Given the description of an element on the screen output the (x, y) to click on. 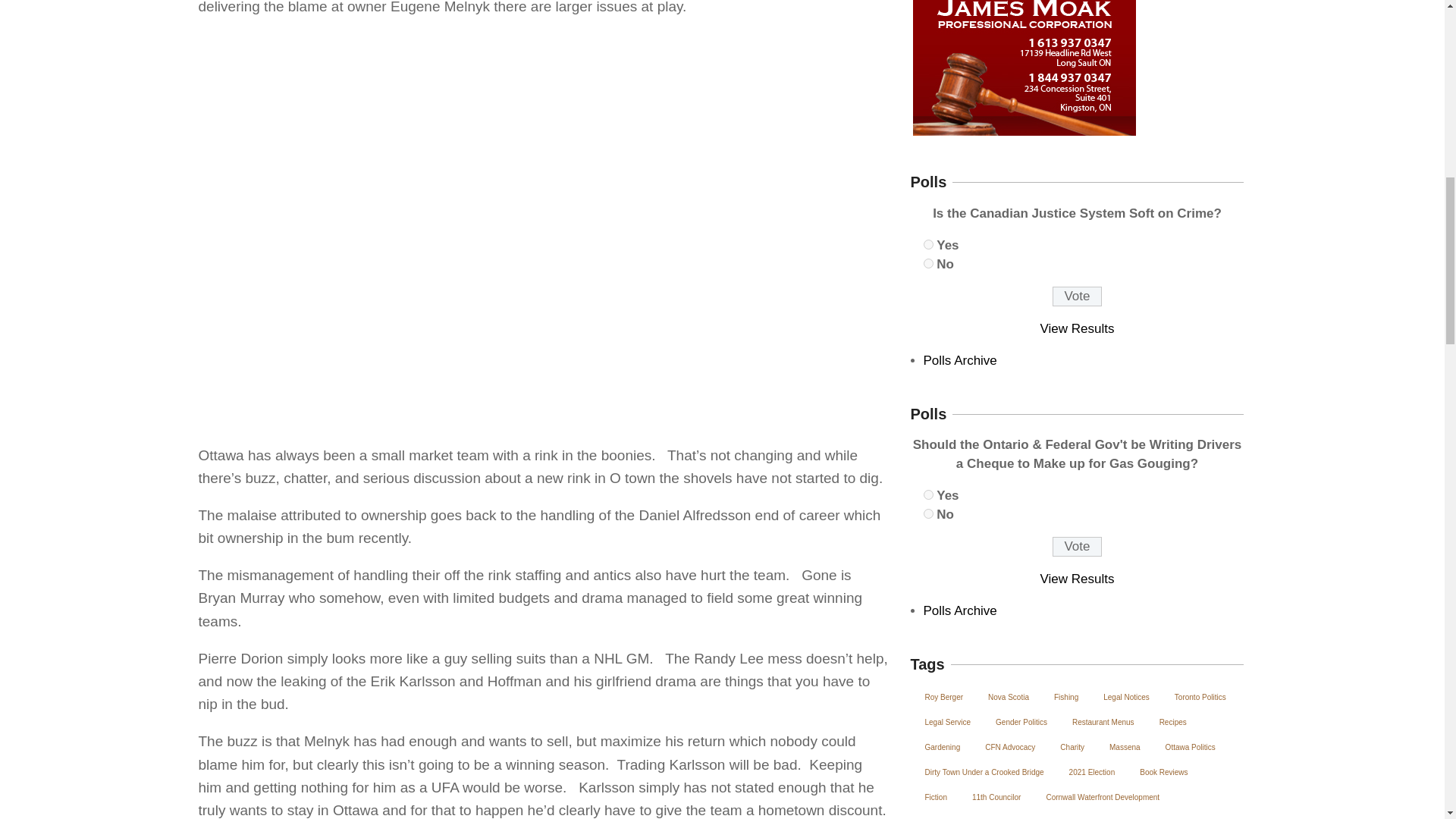
   Vote    (1076, 296)
View Results Of This Poll (1078, 328)
1755 (928, 263)
1762 (928, 494)
   Vote    (1076, 546)
1763 (928, 513)
View Results Of This Poll (1078, 578)
1754 (928, 244)
